Given the description of an element on the screen output the (x, y) to click on. 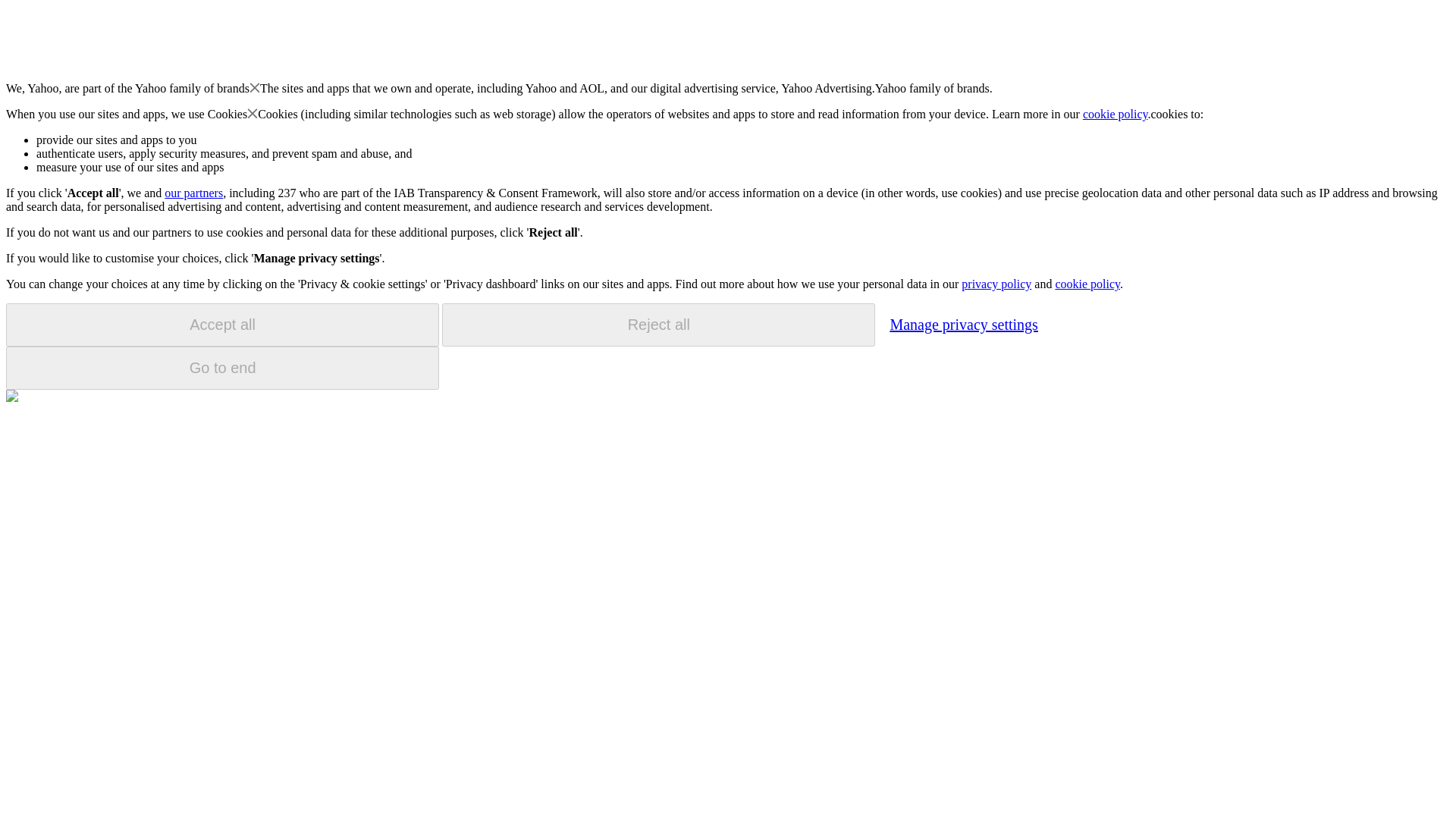
cookie policy (1115, 113)
Go to end (222, 367)
our partners (193, 192)
Manage privacy settings (963, 323)
Reject all (658, 324)
privacy policy (995, 283)
Accept all (222, 324)
cookie policy (1086, 283)
